Given the description of an element on the screen output the (x, y) to click on. 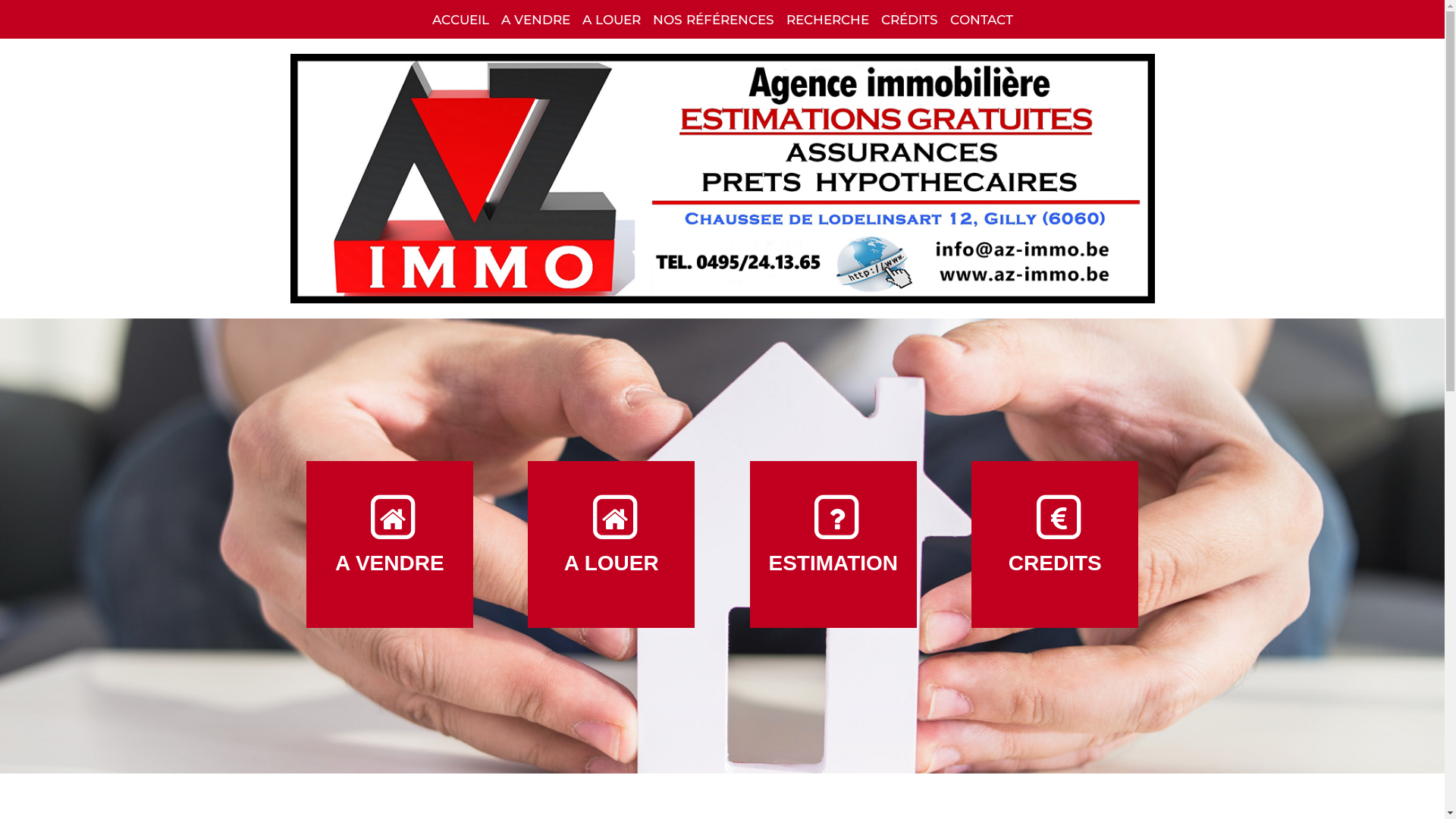
A LOUER Element type: text (611, 19)
CREDITS Element type: text (1054, 544)
RECHERCHE Element type: text (826, 19)
CONTACT Element type: text (980, 19)
ESTIMATION Element type: text (832, 544)
A LOUER Element type: text (610, 544)
A VENDRE Element type: text (389, 544)
A VENDRE Element type: text (534, 19)
ACCUEIL Element type: text (460, 19)
